Given the description of an element on the screen output the (x, y) to click on. 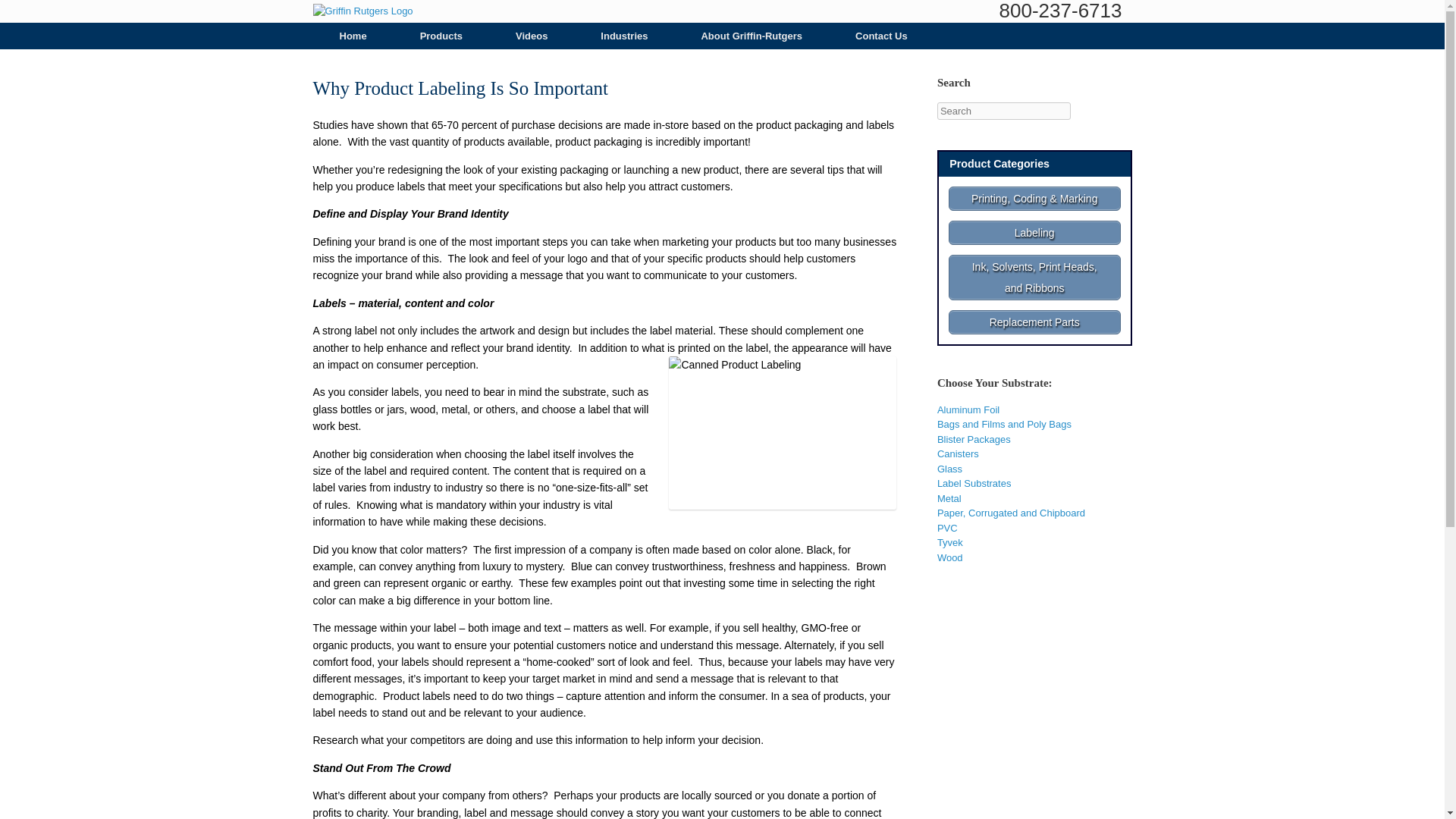
Search (31, 14)
Ink, Solvents, Print Heads, and Ribbons (1035, 277)
Aluminum Foil (967, 409)
Canisters (957, 453)
Industries (623, 35)
Permalink to Why Product Labeling Is So Important (460, 87)
Videos (531, 35)
About Griffin-Rutgers (751, 35)
Blister Packages (973, 439)
Home (353, 35)
